Given the description of an element on the screen output the (x, y) to click on. 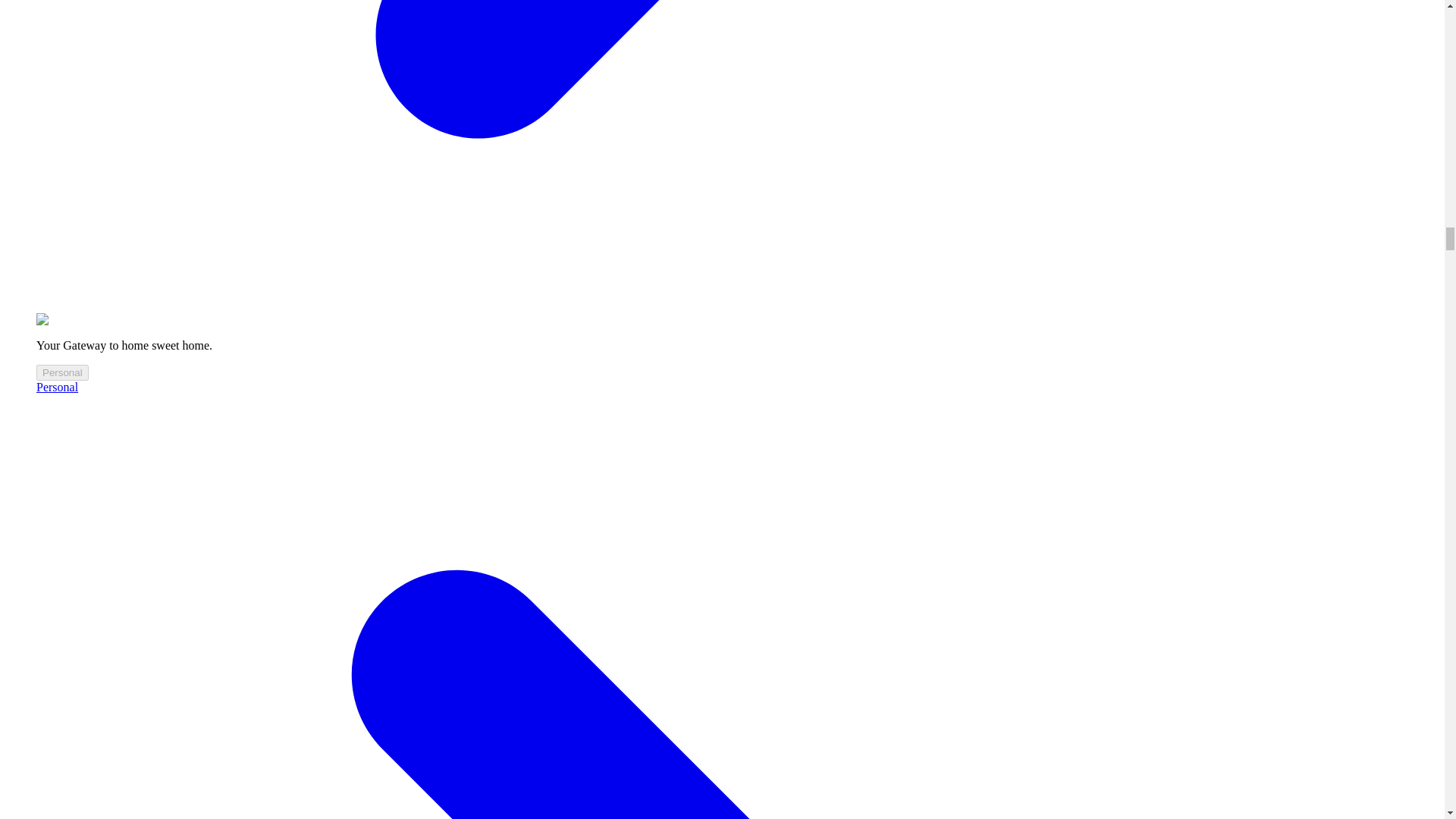
Personal (62, 372)
